Given the description of an element on the screen output the (x, y) to click on. 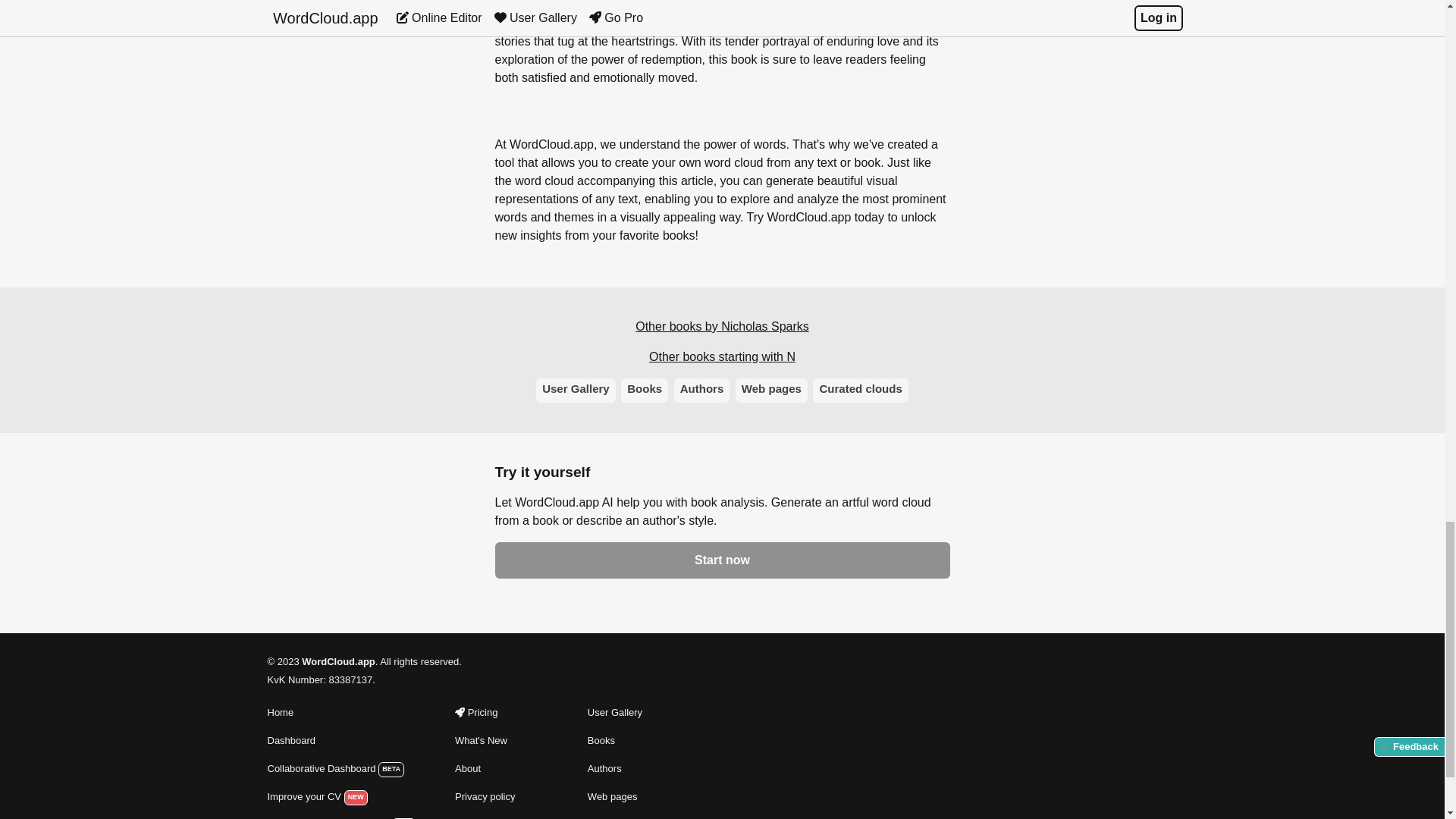
User Gallery (620, 712)
Explore User-Created Word Clouds (620, 712)
WordClouds for hundreds of web pages (620, 796)
Collection of inspiring word clouds (620, 817)
WordClouds for hundreds of books (620, 769)
Dashboard (340, 741)
Start now (722, 560)
Authors (702, 390)
Authors (620, 769)
Home (340, 712)
